Given the description of an element on the screen output the (x, y) to click on. 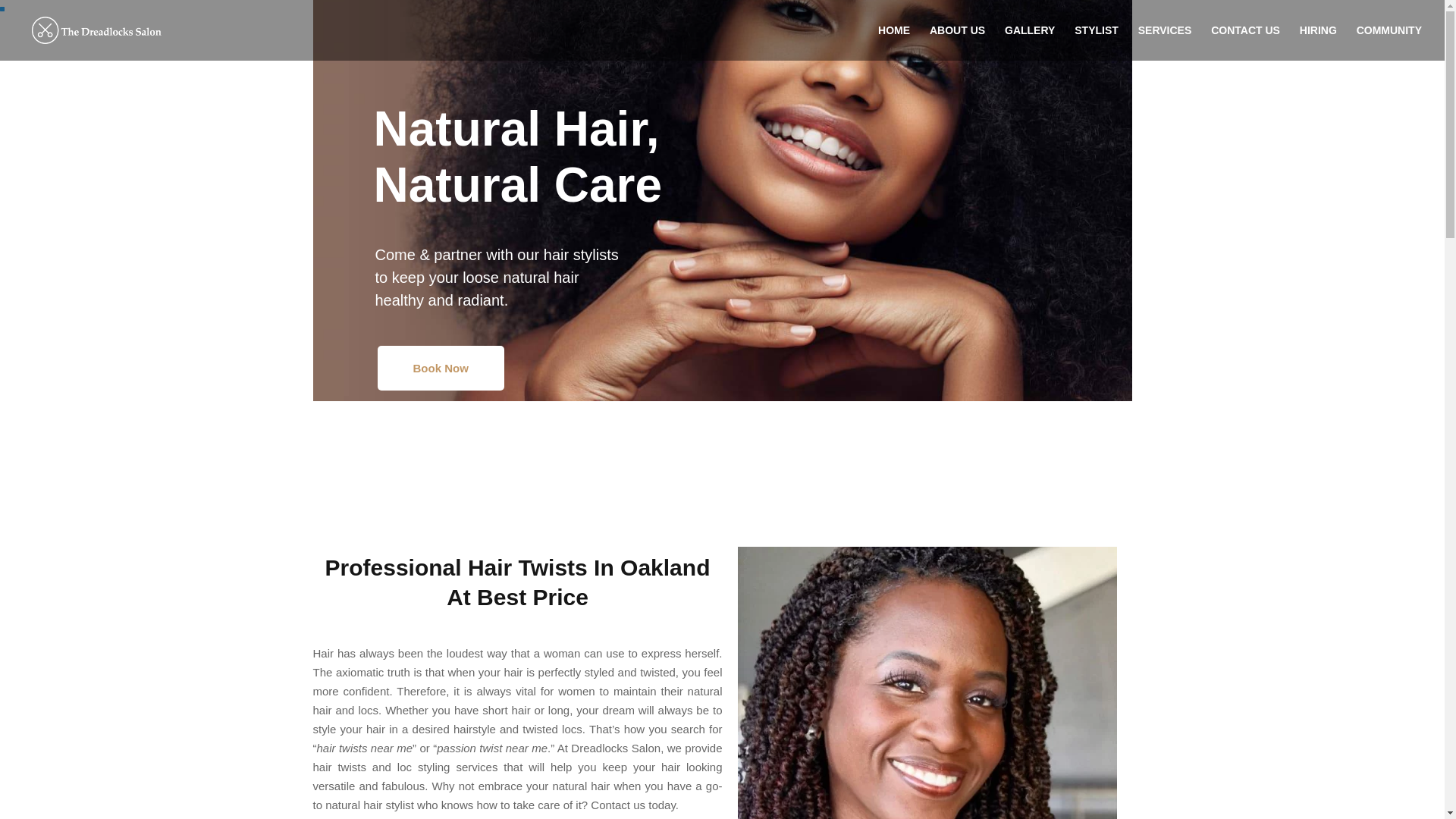
SERVICES (1165, 42)
CONTACT US (1245, 42)
ABOUT US (957, 42)
COMMUNITY (1389, 42)
HIRING (1318, 42)
HOME (893, 42)
Book Now (440, 367)
STYLIST (1096, 42)
GALLERY (1029, 42)
